Given the description of an element on the screen output the (x, y) to click on. 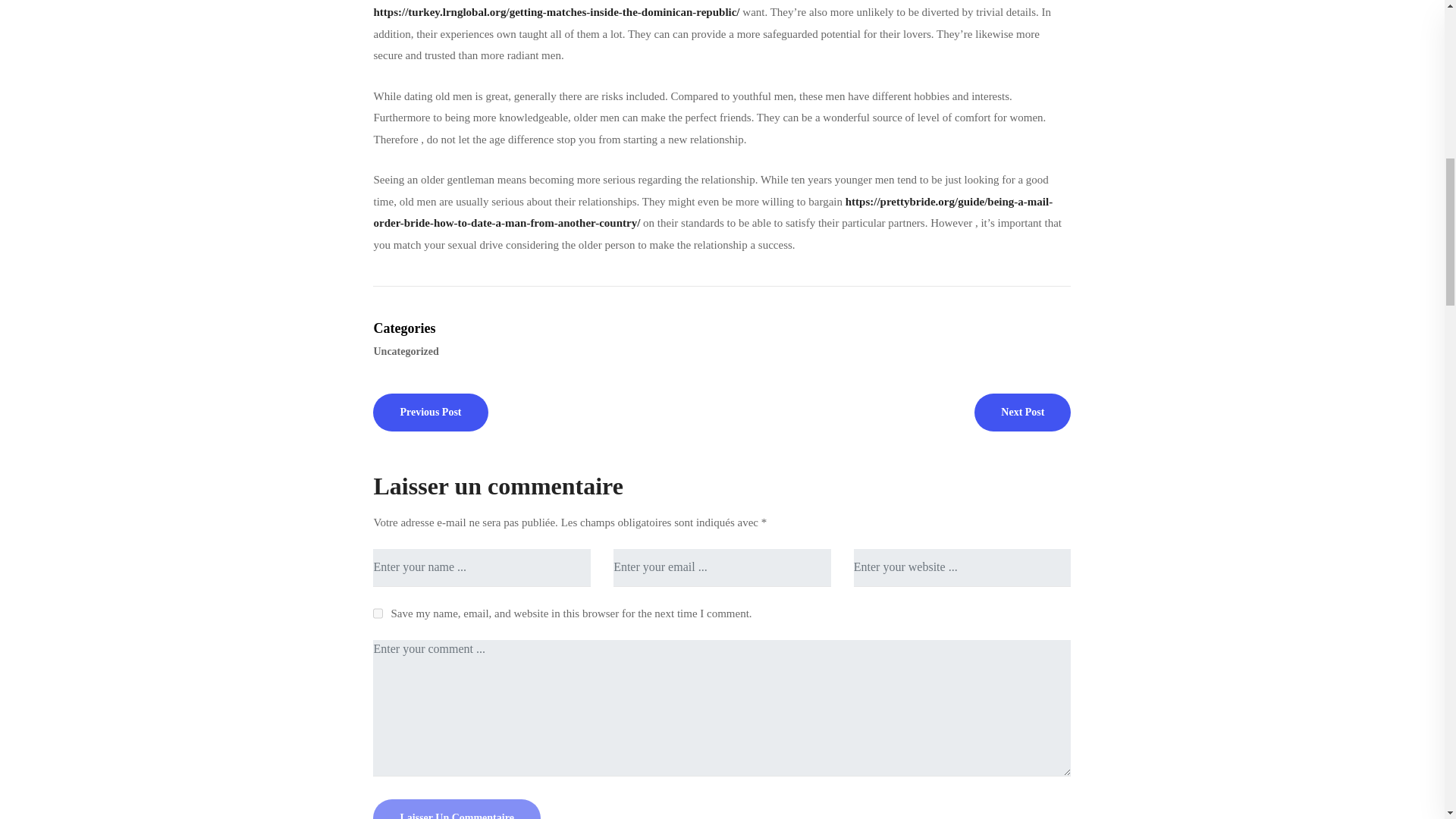
Previous Post (429, 411)
Uncategorized (407, 351)
Next Post (1022, 411)
Laisser un commentaire (456, 809)
Laisser un commentaire (456, 809)
